Given the description of an element on the screen output the (x, y) to click on. 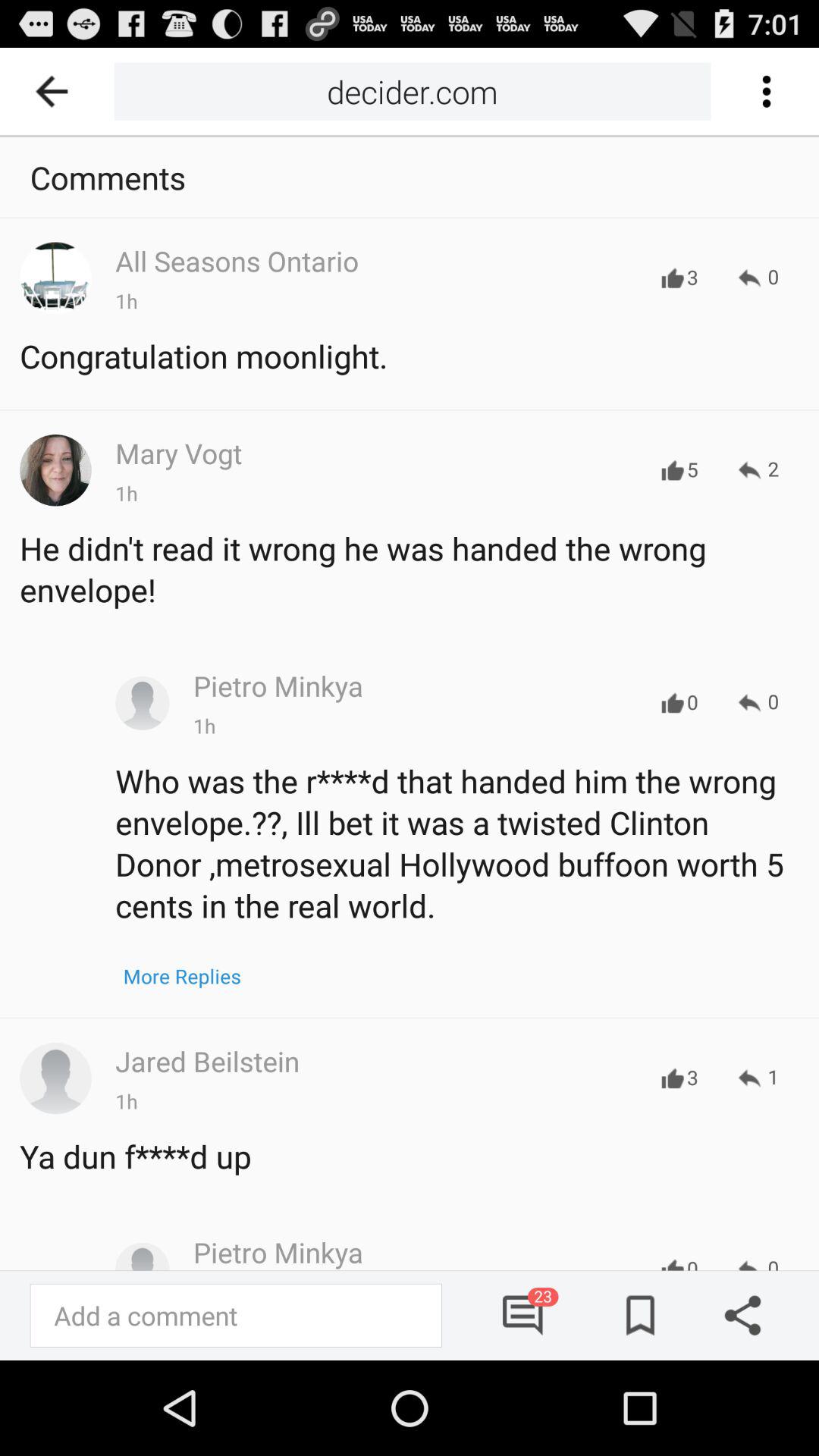
scroll until the 2 (758, 470)
